Given the description of an element on the screen output the (x, y) to click on. 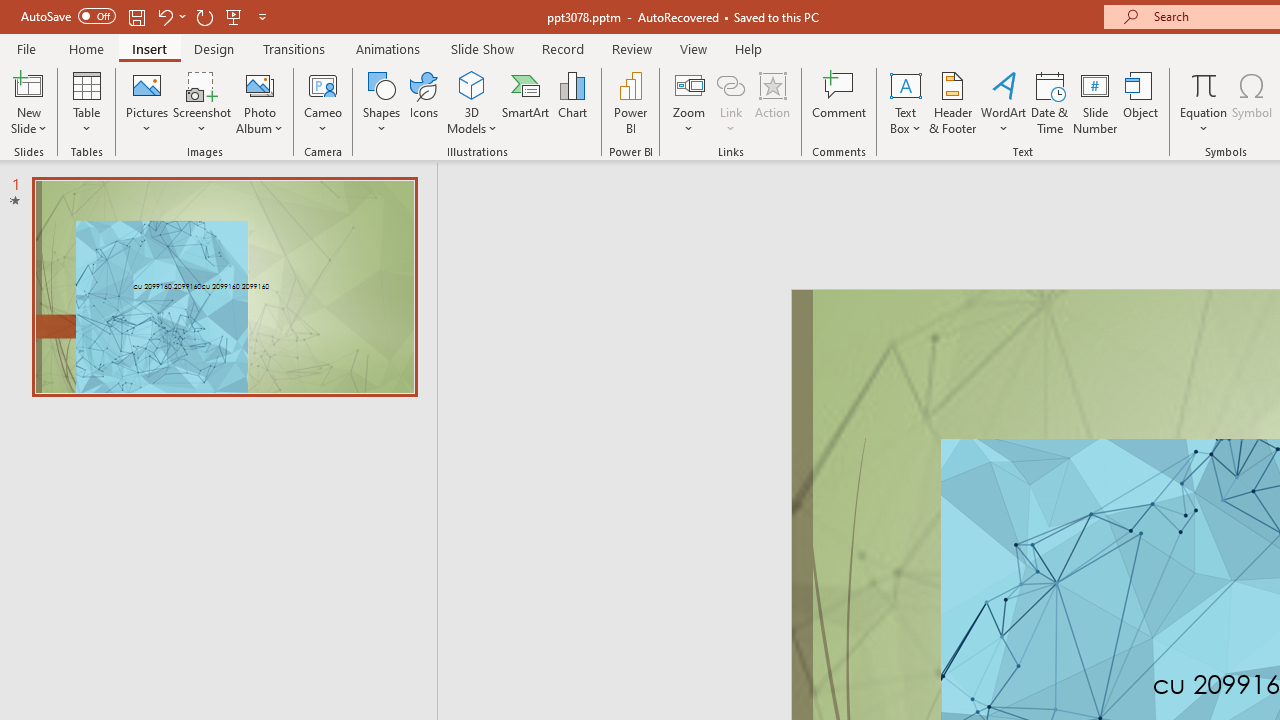
Link (731, 84)
Equation (1203, 84)
Header & Footer... (952, 102)
Slide Number (1095, 102)
Power BI (630, 102)
3D Models (472, 84)
Symbol... (1252, 102)
